Given the description of an element on the screen output the (x, y) to click on. 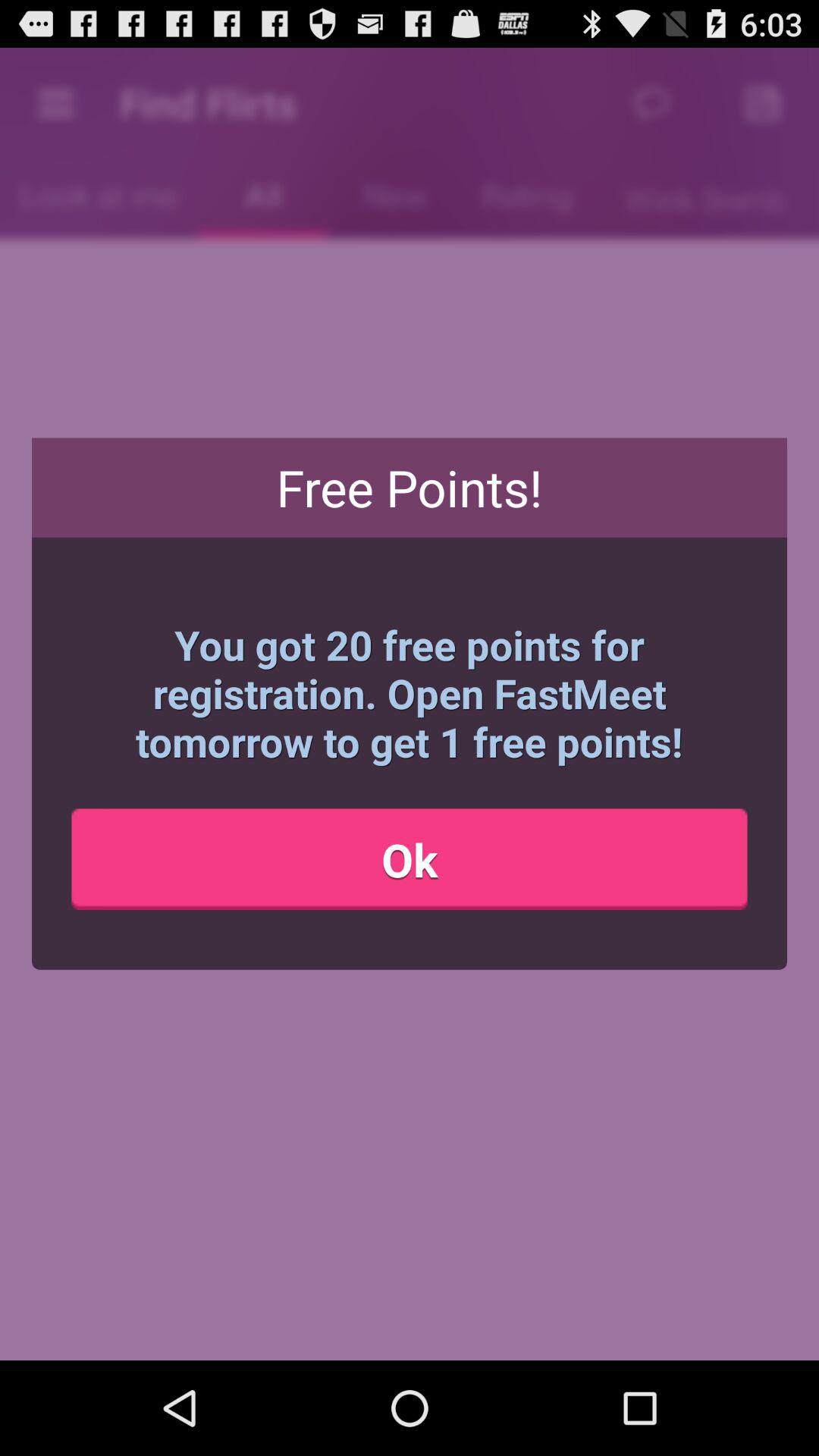
open the item below the you got 20 icon (409, 859)
